Given the description of an element on the screen output the (x, y) to click on. 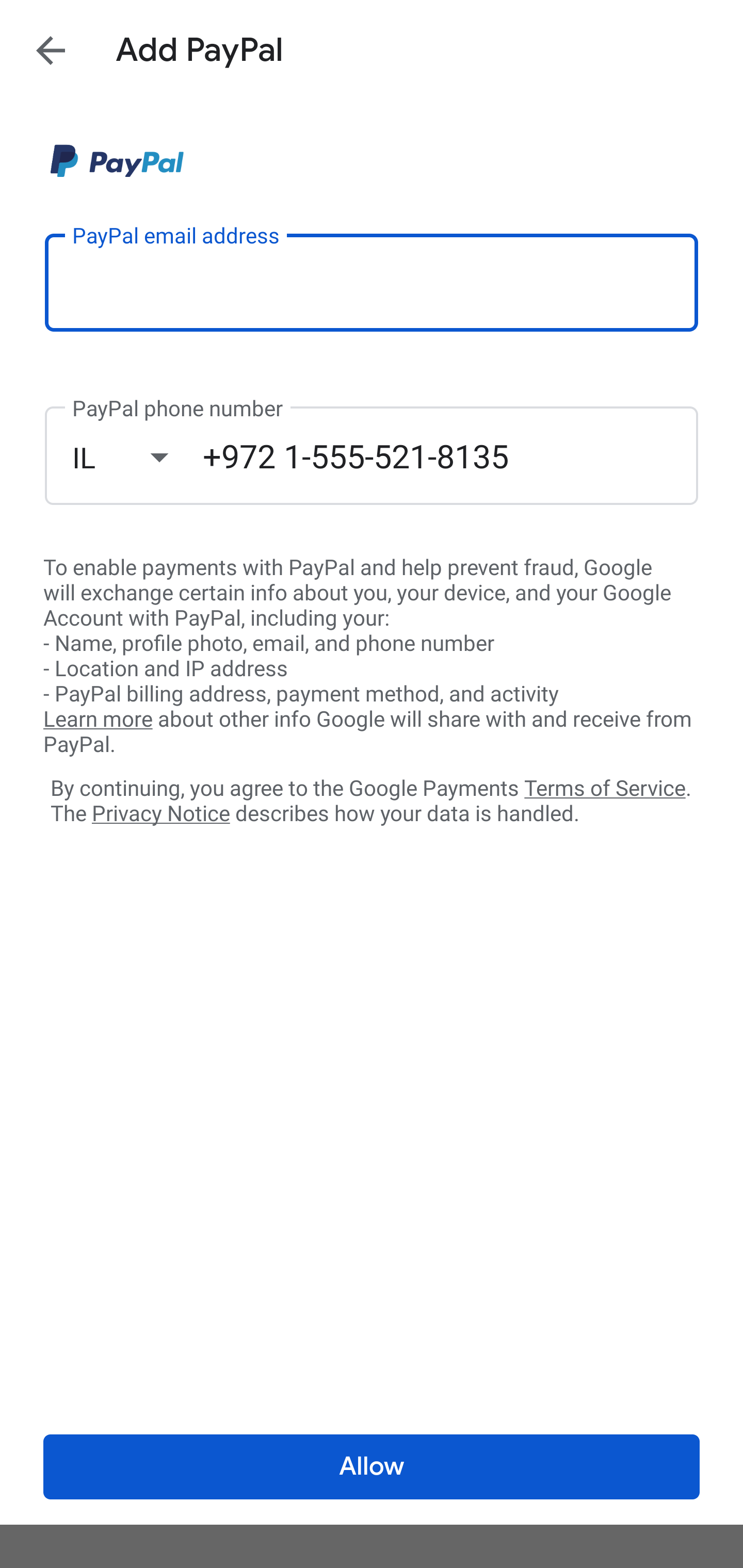
Navigate up (50, 50)
PayPal email address (371, 282)
IL (137, 456)
Learn more (97, 719)
Terms of Service (604, 787)
Privacy Notice (160, 814)
Allow (371, 1466)
